Given the description of an element on the screen output the (x, y) to click on. 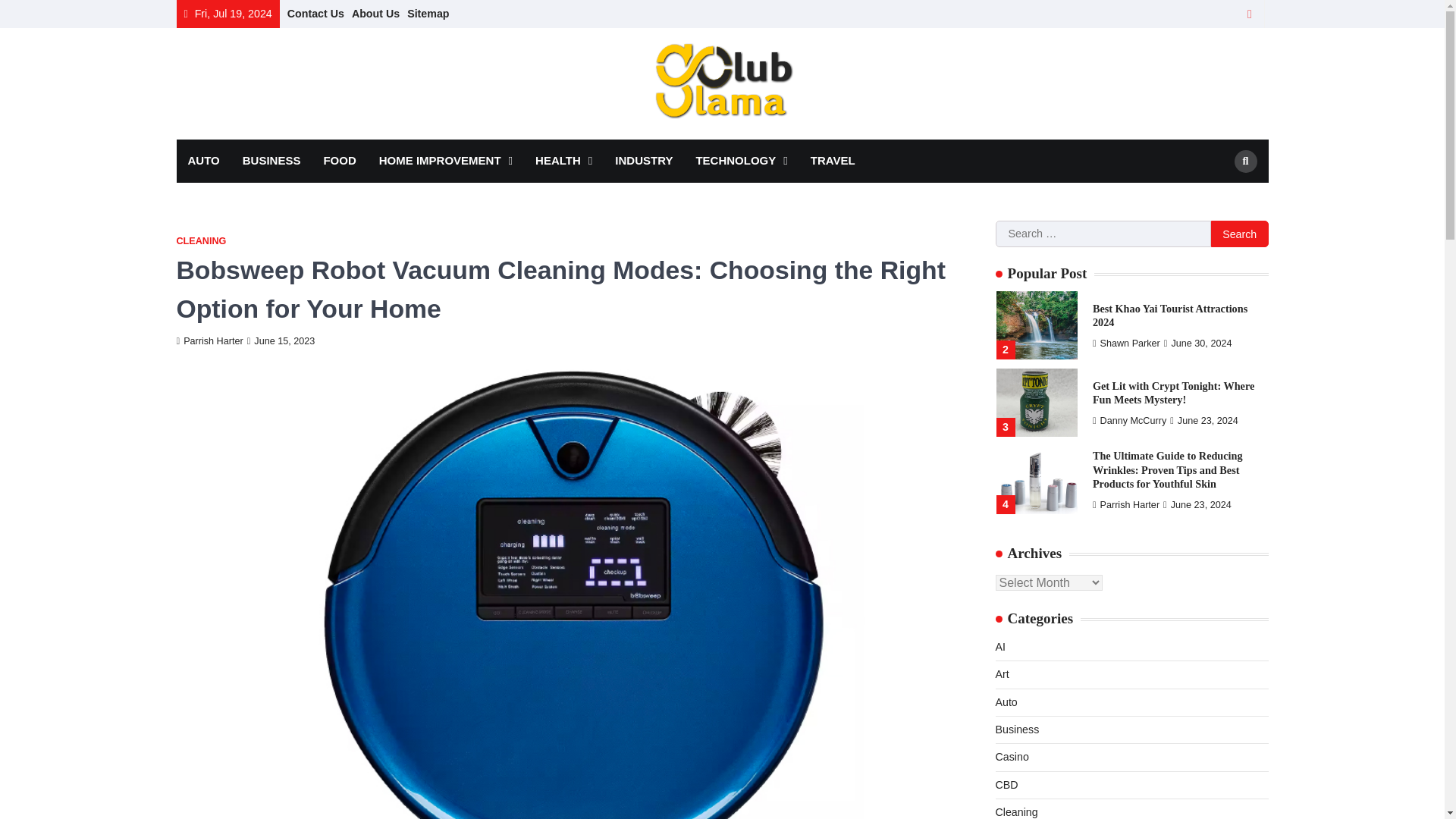
Sitemap (427, 13)
Search (1217, 196)
Parrish Harter (209, 340)
Contact Us (314, 13)
CLEANING (200, 241)
TRAVEL (832, 160)
About Us (375, 13)
INDUSTRY (644, 160)
HEALTH (564, 160)
BUSINESS (272, 160)
Search (1239, 234)
AUTO (203, 160)
TECHNOLOGY (740, 160)
Search (1239, 234)
Search (1245, 160)
